Given the description of an element on the screen output the (x, y) to click on. 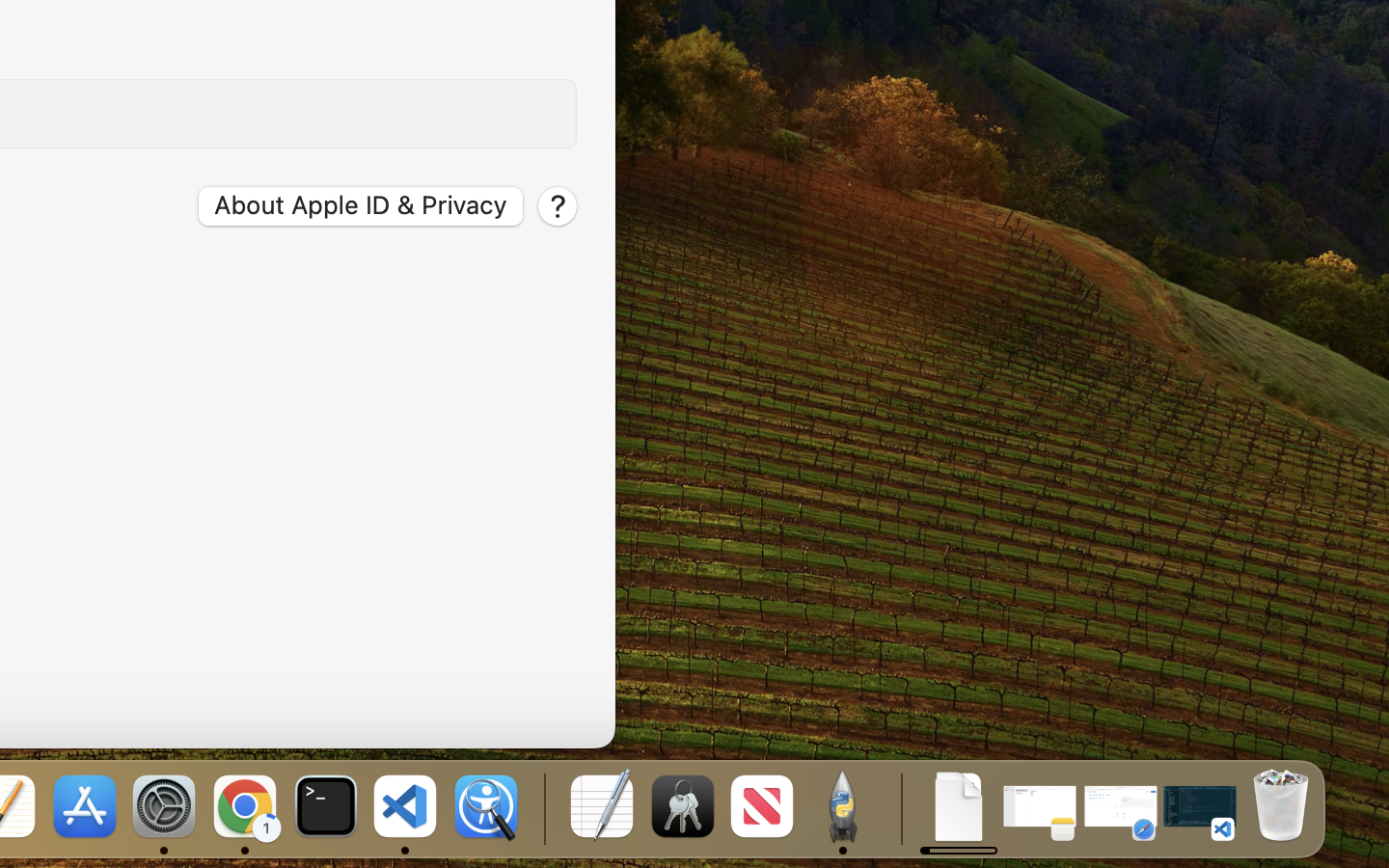
0.4285714328289032 Element type: AXDockItem (541, 807)
